Given the description of an element on the screen output the (x, y) to click on. 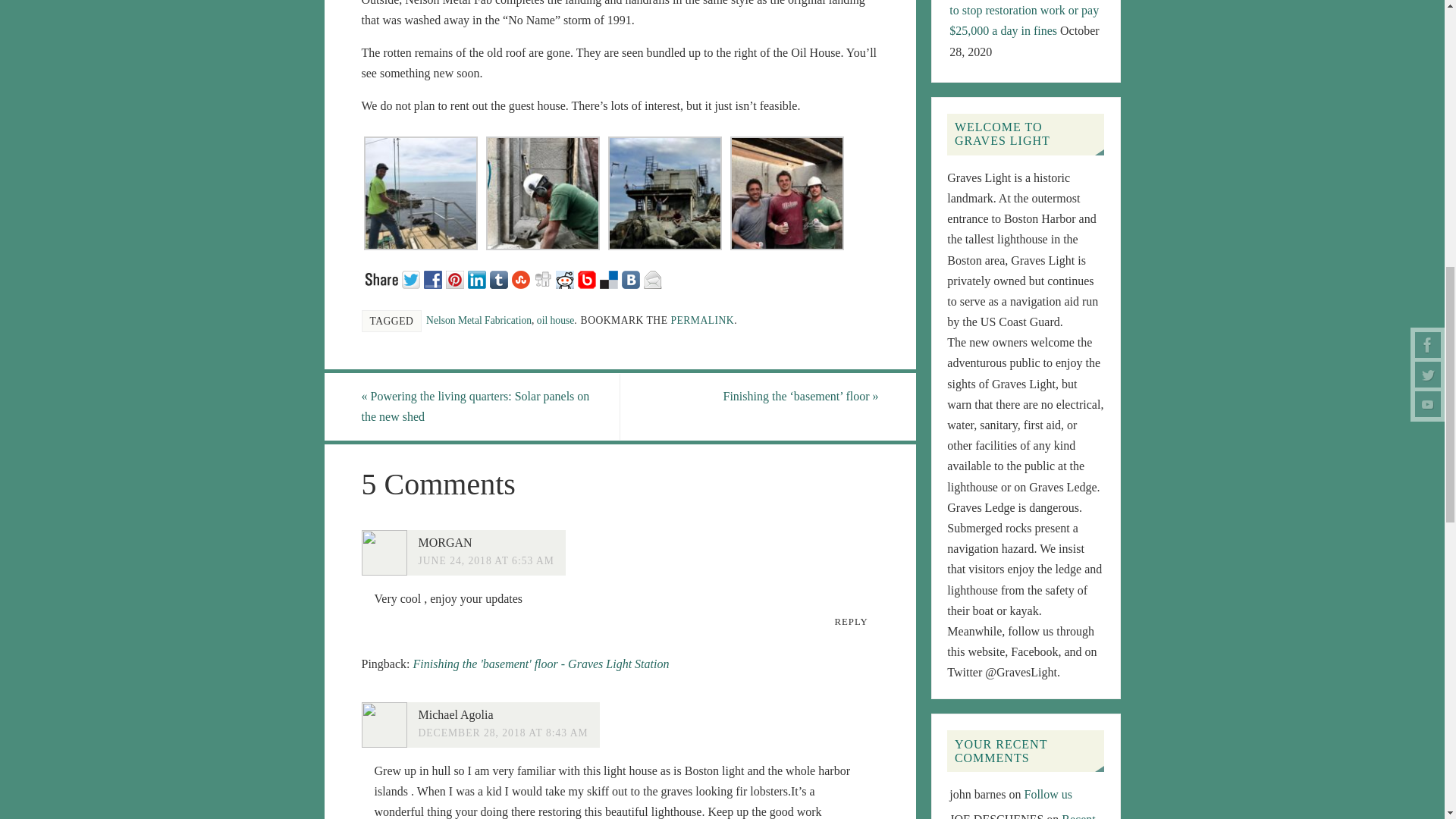
Tumblr (500, 277)
Pinterest (456, 277)
StumbleUpon (521, 277)
Linkedin (478, 277)
Facebook (434, 277)
Twitter (412, 277)
